Given the description of an element on the screen output the (x, y) to click on. 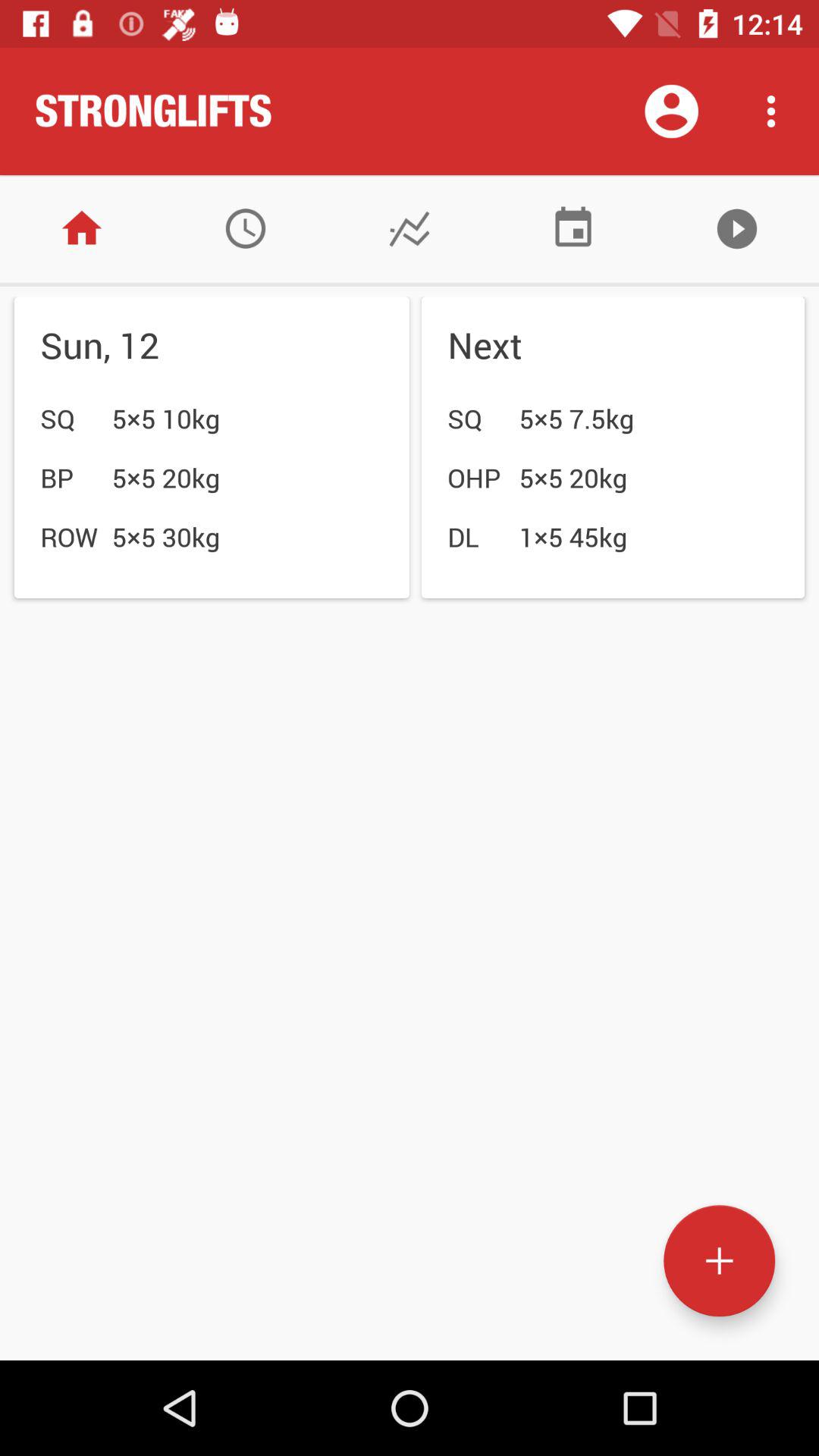
home icon (81, 228)
